Given the description of an element on the screen output the (x, y) to click on. 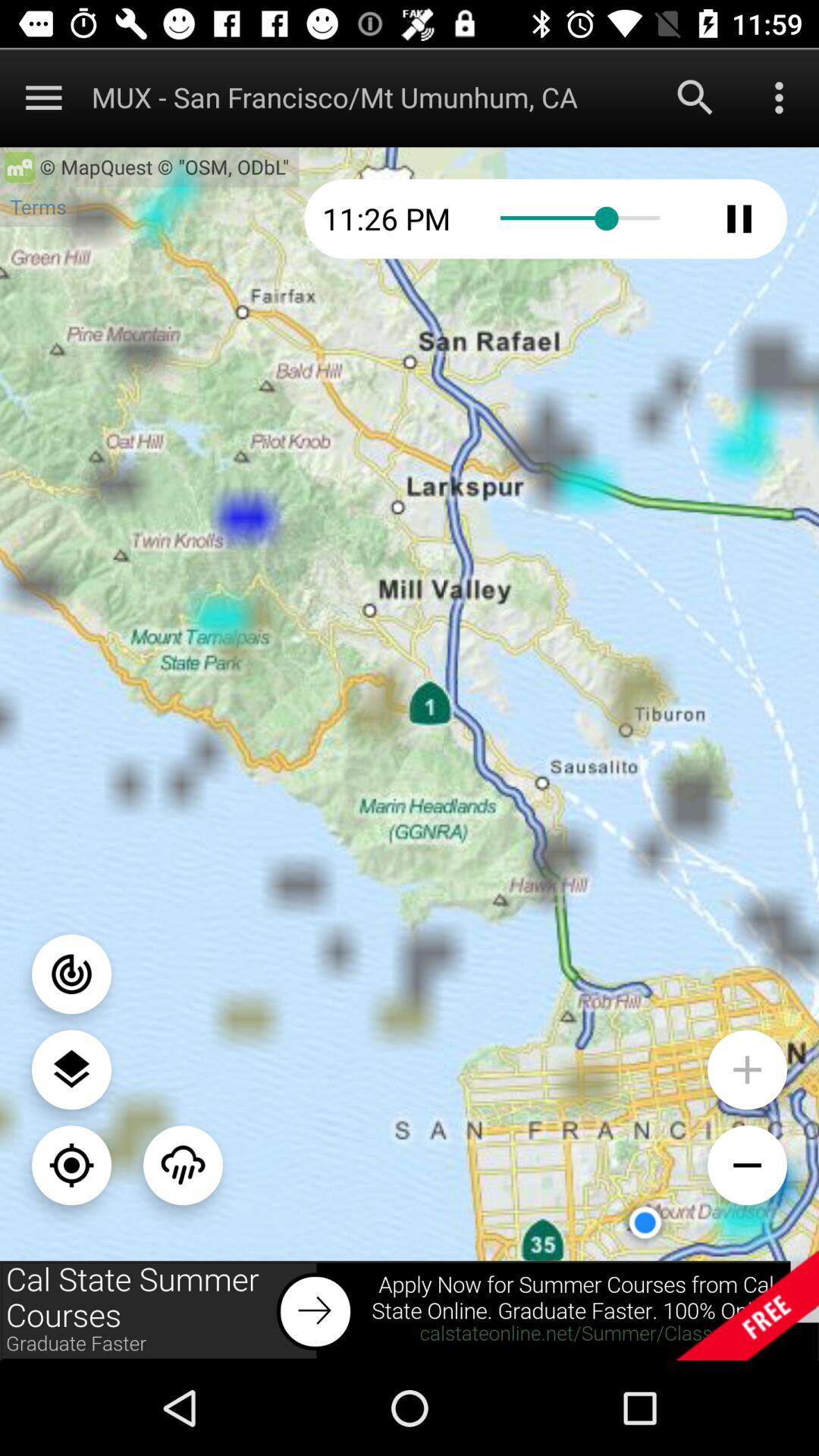
view bird 's eye (71, 1069)
